Given the description of an element on the screen output the (x, y) to click on. 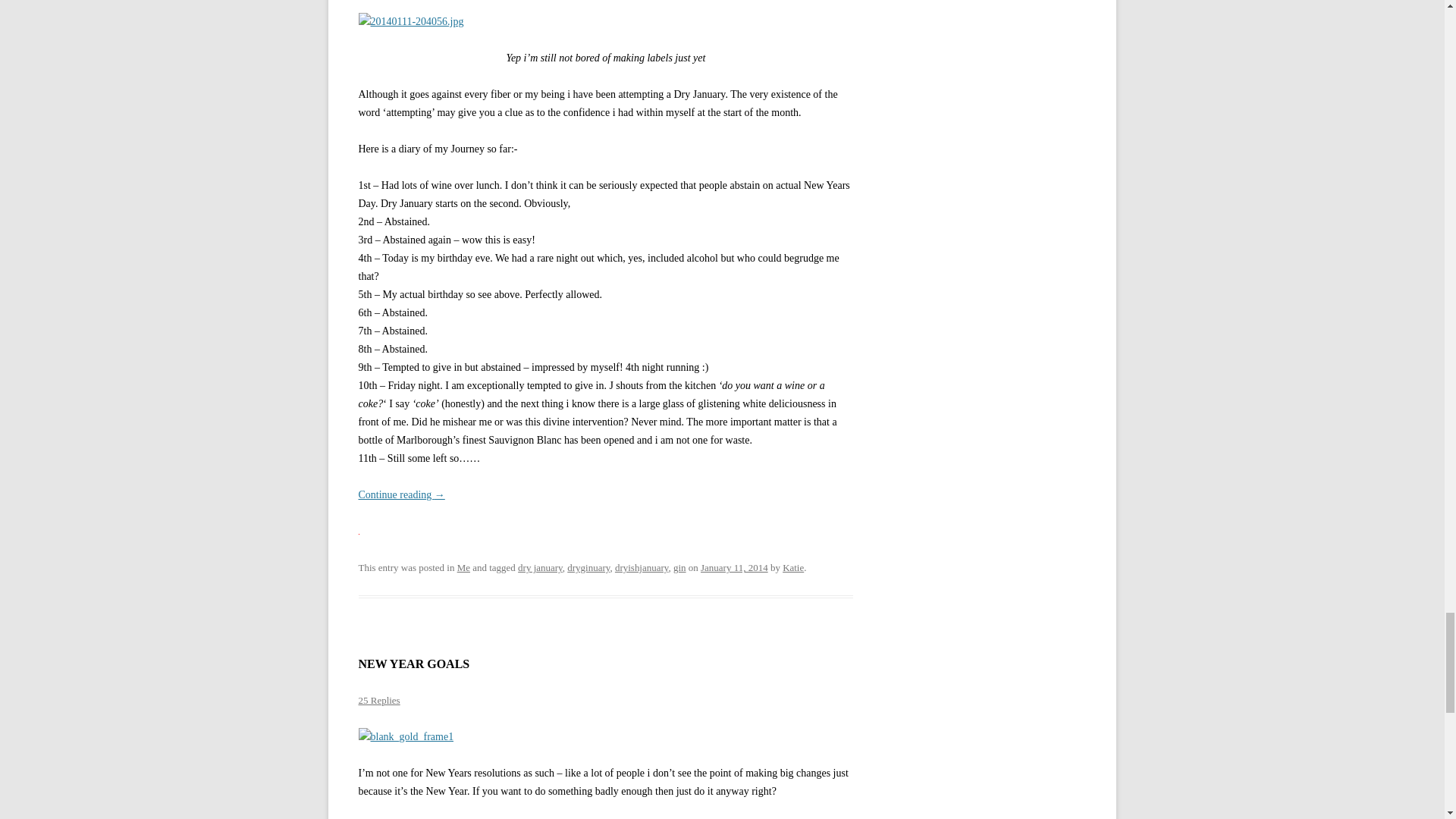
8:46 pm (734, 567)
View all posts by Katie (793, 567)
